Given the description of an element on the screen output the (x, y) to click on. 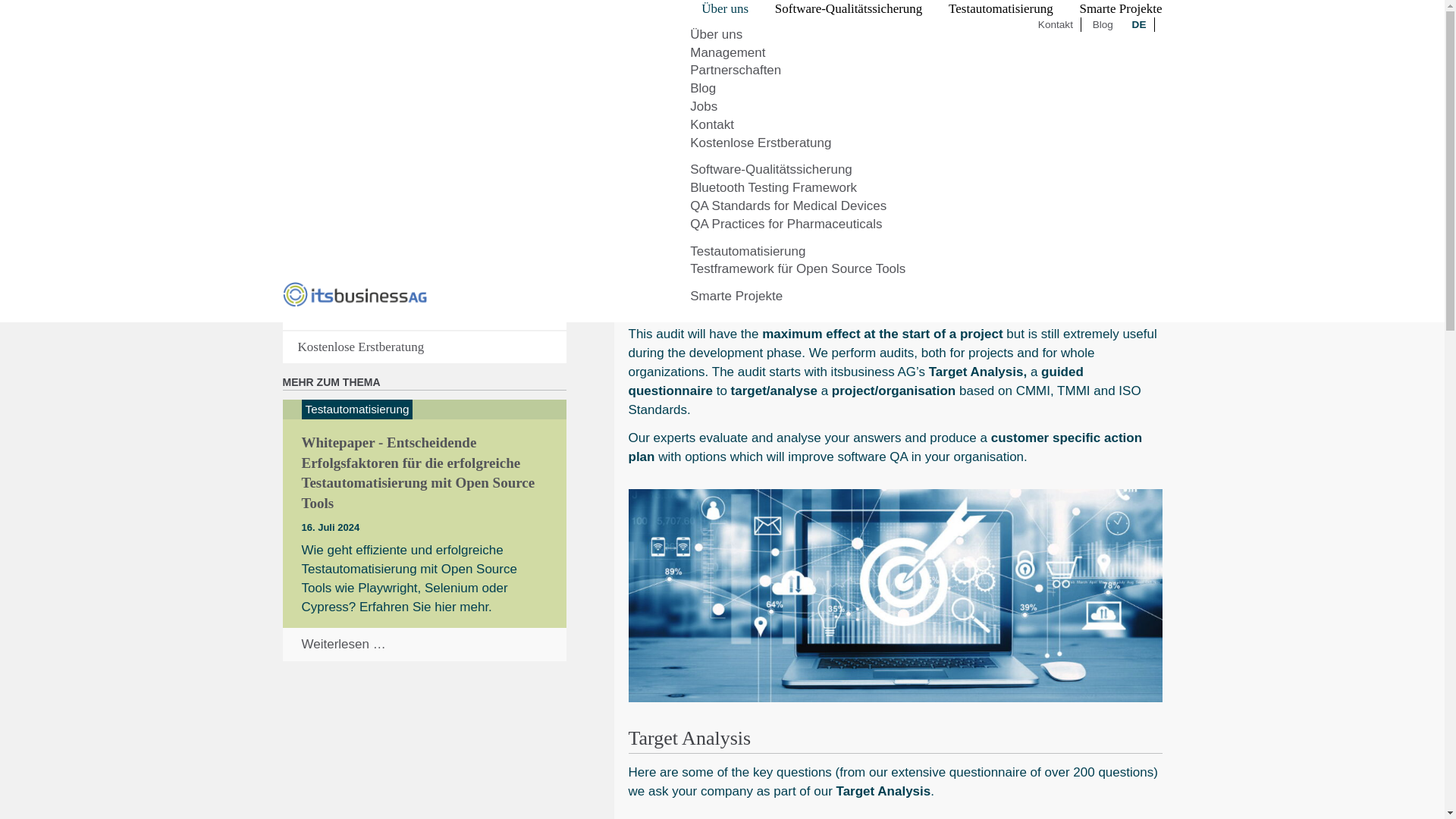
CMMI (696, 268)
Kostenlose Erstberatung (760, 142)
Partnerschaften (735, 69)
Partnerschaften (735, 69)
Bluetooth Testing Framework (773, 187)
Testautomatisierung (1000, 12)
QA Practices for Pharmaceuticals (786, 223)
Jobs (703, 106)
Management (727, 52)
Smarte Projekte (736, 296)
